Given the description of an element on the screen output the (x, y) to click on. 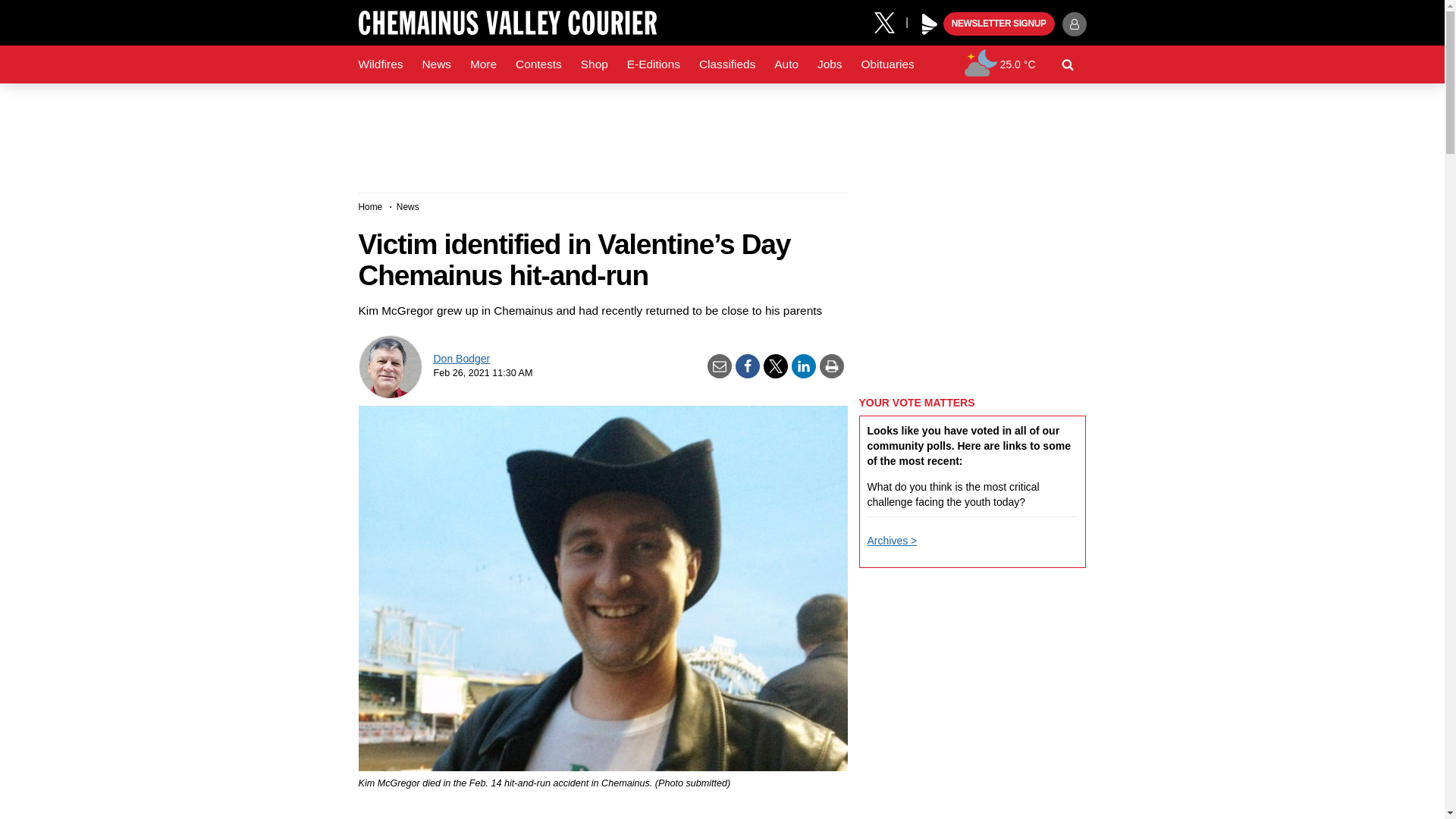
X (889, 21)
Play (929, 24)
NEWSLETTER SIGNUP (998, 24)
Wildfires (380, 64)
News (435, 64)
Black Press Media (929, 24)
